Given the description of an element on the screen output the (x, y) to click on. 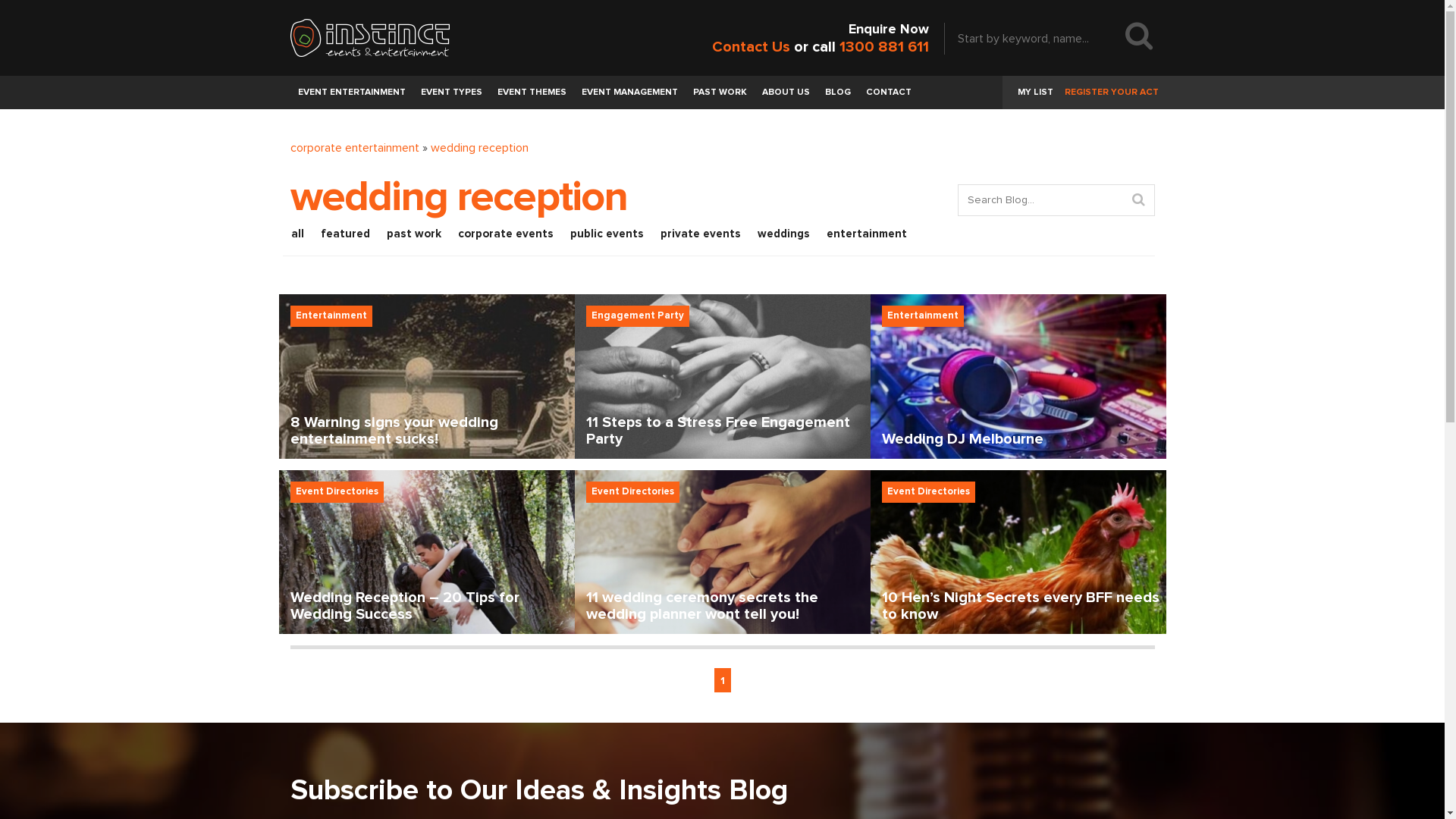
8 Warning signs your wedding entertainment sucks! Element type: hover (426, 376)
EVENT TYPES Element type: text (450, 92)
corporate entertainment Element type: text (353, 147)
Contact Us Element type: text (750, 46)
BLOG Element type: text (837, 92)
Entertainment
Wedding DJ Melbourne Element type: text (1018, 376)
Engagement Party
11 Steps to a Stress Free Engagement Party Element type: text (722, 376)
MY LIST Element type: text (1035, 92)
Wedding DJ Melbourne Element type: hover (1018, 376)
wedding reception Element type: text (479, 147)
featured Element type: text (345, 233)
weddings Element type: text (783, 233)
ABOUT US Element type: text (784, 92)
EVENT ENTERTAINMENT Element type: text (350, 92)
private events Element type: text (700, 233)
all Element type: text (296, 233)
REGISTER YOUR ACT Element type: text (1110, 92)
EVENT THEMES Element type: text (531, 92)
EVENT MANAGEMENT Element type: text (628, 92)
1 Element type: text (722, 680)
entertainment Element type: text (865, 233)
public events Element type: text (606, 233)
CONTACT Element type: text (888, 92)
Instinct Music Element type: hover (368, 37)
PAST WORK Element type: text (719, 92)
11 Steps to a Stress Free Engagement Party Element type: hover (722, 376)
corporate events Element type: text (504, 233)
1300 881 611 Element type: text (883, 46)
past work Element type: text (412, 233)
